Given the description of an element on the screen output the (x, y) to click on. 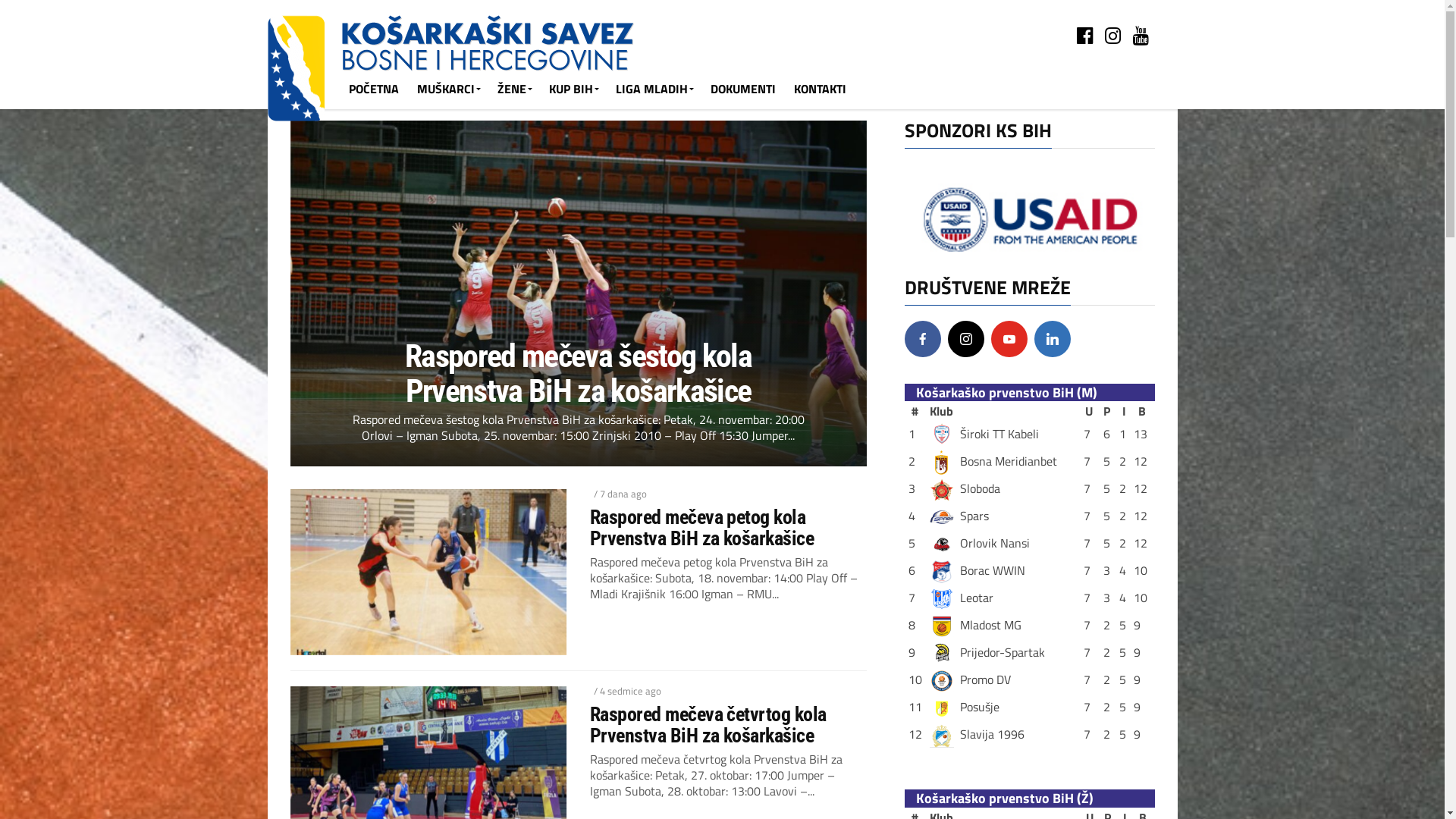
KUP BIH Element type: text (572, 88)
DOKUMENTI Element type: text (742, 88)
linkedin Element type: text (1052, 338)
youtube Element type: text (1008, 338)
LIGA MLADIH Element type: text (653, 88)
KONTAKTI Element type: text (819, 88)
instagram Element type: text (965, 338)
facebook Element type: text (921, 338)
